Given the description of an element on the screen output the (x, y) to click on. 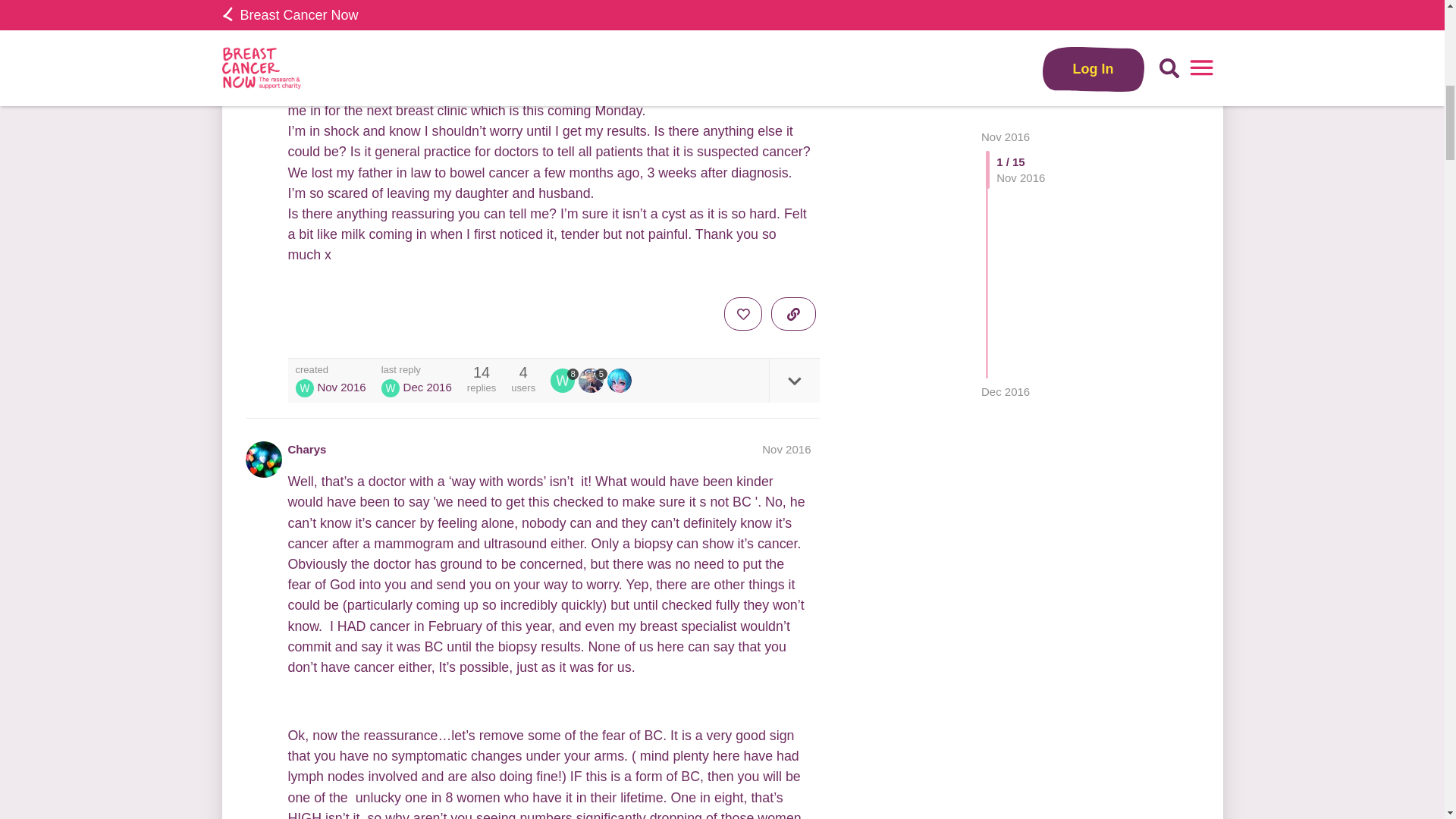
Dec 2016 (1005, 20)
last reply (416, 369)
Wtp2016 (562, 380)
copy a link to this post to clipboard (793, 313)
Wtp2016 (564, 380)
24 Dec 2016 16:36 (427, 386)
expand topic details (793, 380)
24 Dec 2016 16:36 (1005, 20)
Nov 2016 (785, 449)
like this post (742, 313)
